Given the description of an element on the screen output the (x, y) to click on. 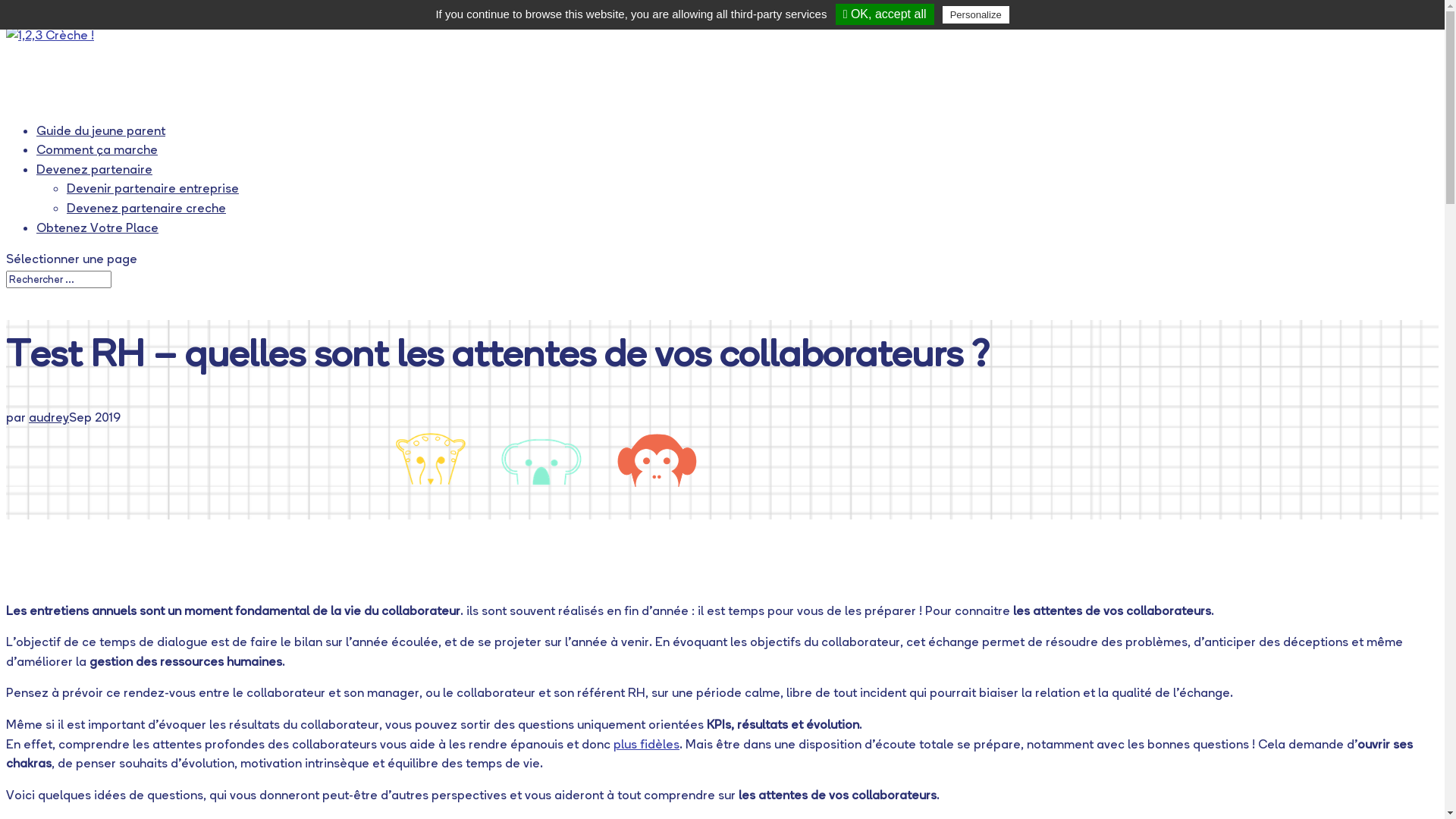
Obtenez Votre Place Element type: text (97, 234)
audrey Element type: text (48, 416)
Devenir partenaire entreprise Element type: text (152, 187)
Personalize Element type: text (975, 14)
Devenez partenaire Element type: text (94, 176)
Guide du jeune parent Element type: text (100, 137)
Devenez partenaire creche Element type: text (145, 207)
Rechercher: Element type: hover (58, 279)
